Given the description of an element on the screen output the (x, y) to click on. 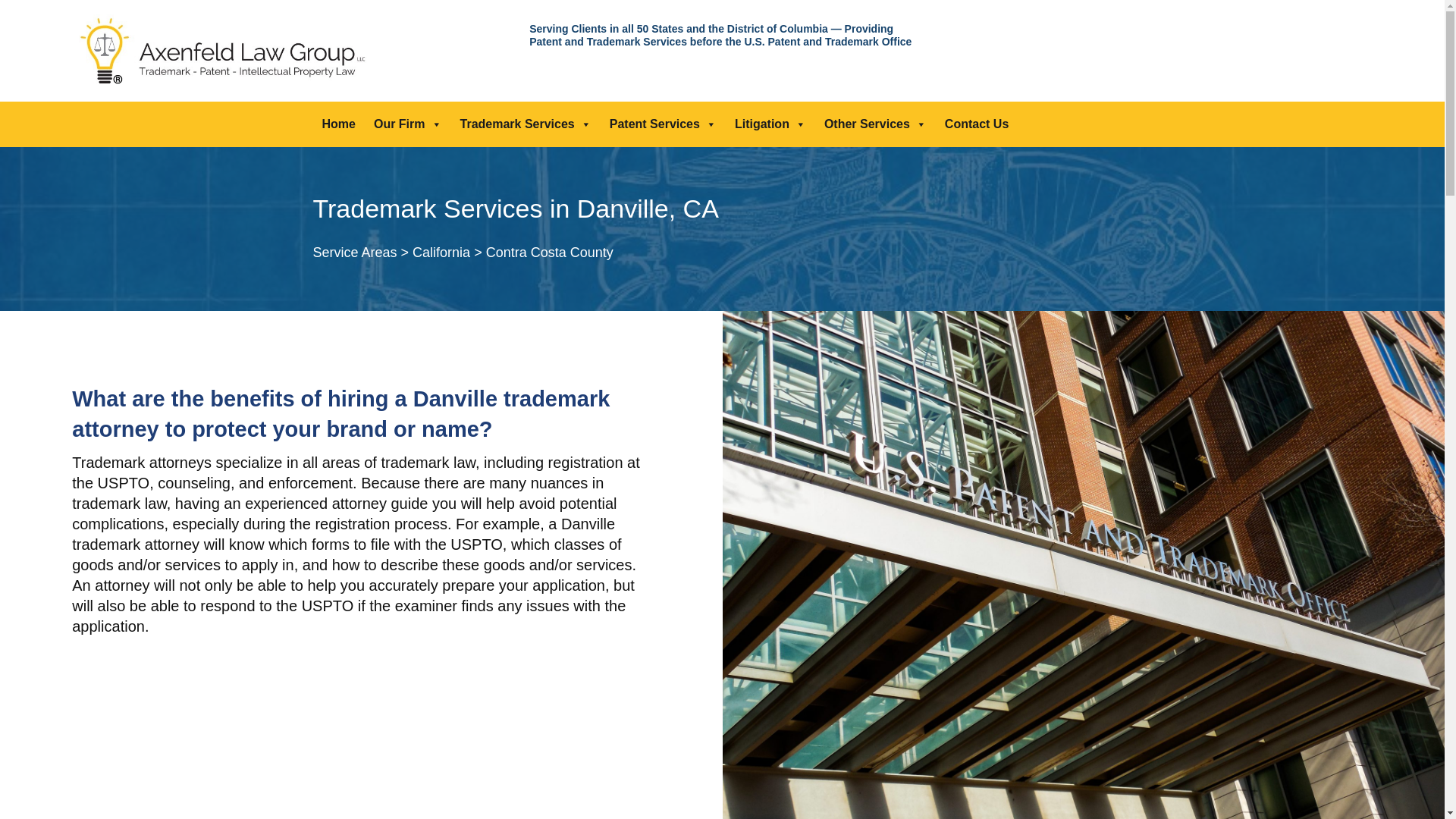
Litigation (770, 124)
Patent Services (662, 124)
Trademark Services (525, 124)
Home (338, 124)
Our Firm (408, 124)
